Given the description of an element on the screen output the (x, y) to click on. 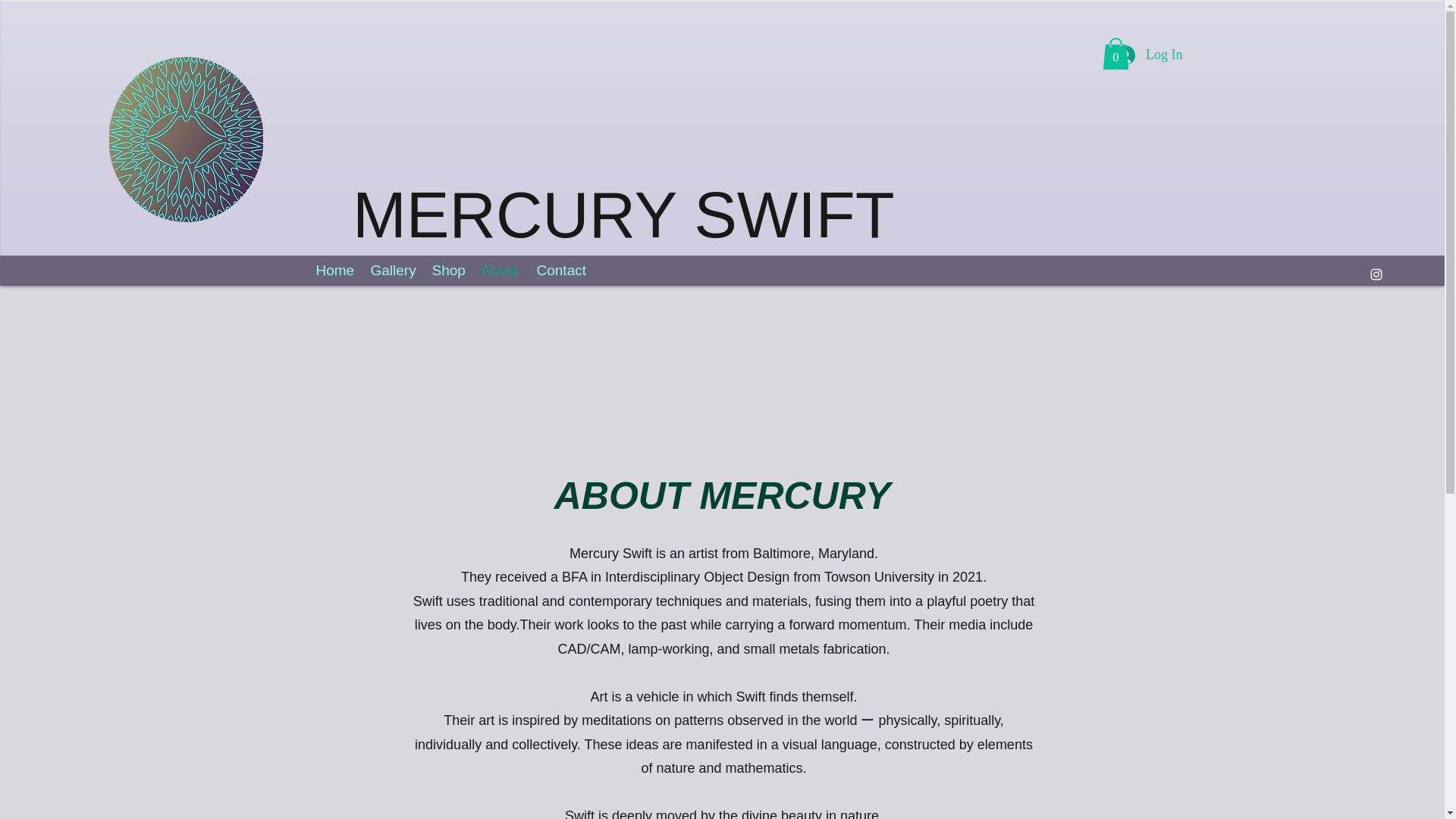
About (500, 270)
Shop (449, 270)
MERCURY SWIFT (623, 214)
Gallery (392, 270)
Log In (1149, 55)
Contact (561, 270)
Home (334, 270)
